Given the description of an element on the screen output the (x, y) to click on. 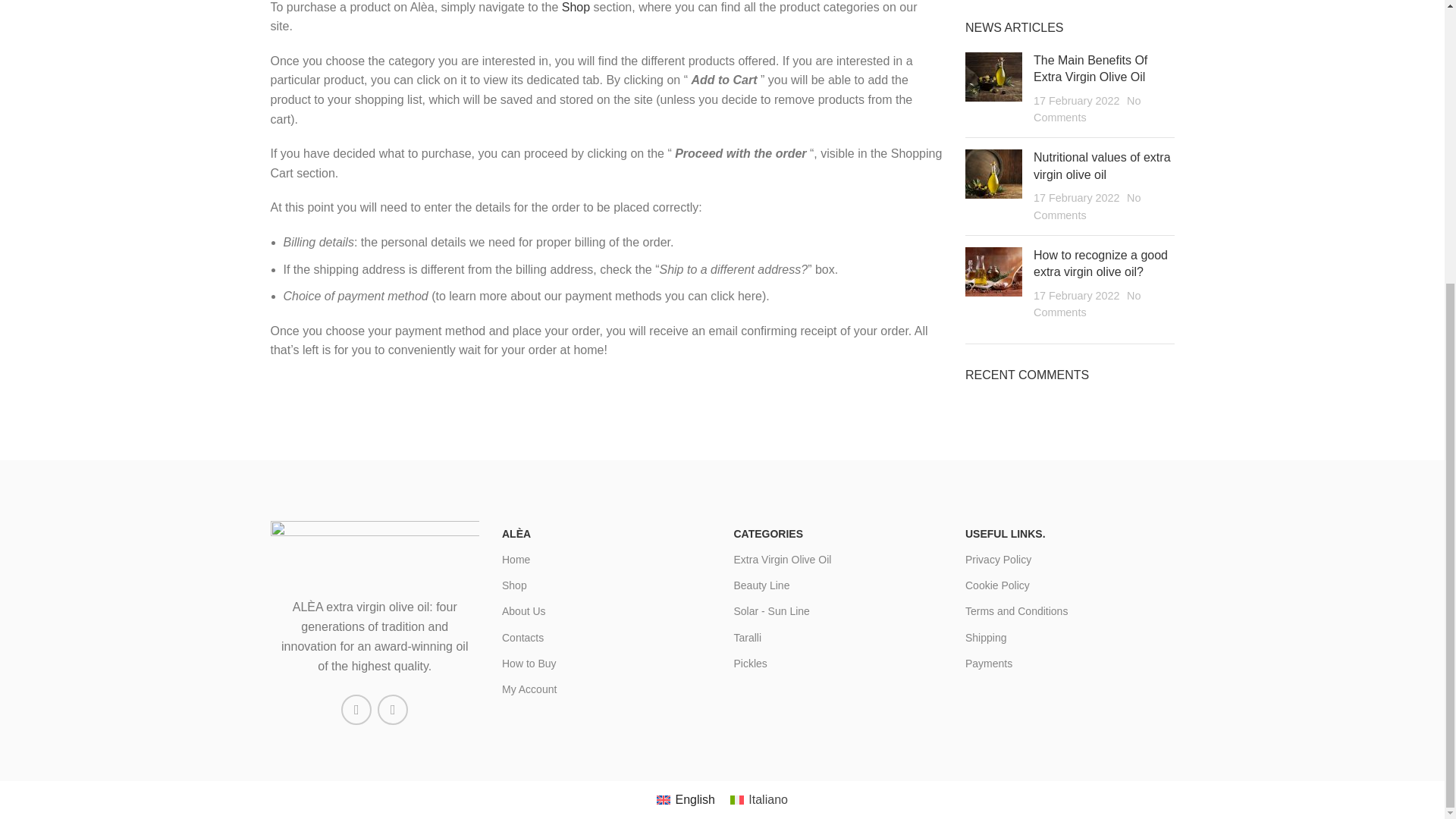
Permalink to The Main Benefits Of Extra Virgin Olive Oil (1090, 68)
Home (606, 559)
Permalink to Nutritional values of extra virgin olive oil (1101, 165)
Permalink to How to recognize a good extra virgin olive oil? (1100, 263)
No Comments (1086, 205)
Shop (575, 6)
The Main Benefits Of Extra Virgin Olive Oil (1090, 68)
Nutritional values of extra virgin olive oil (1101, 165)
No Comments (1086, 303)
How to recognize a good extra virgin olive oil? (1100, 263)
